Given the description of an element on the screen output the (x, y) to click on. 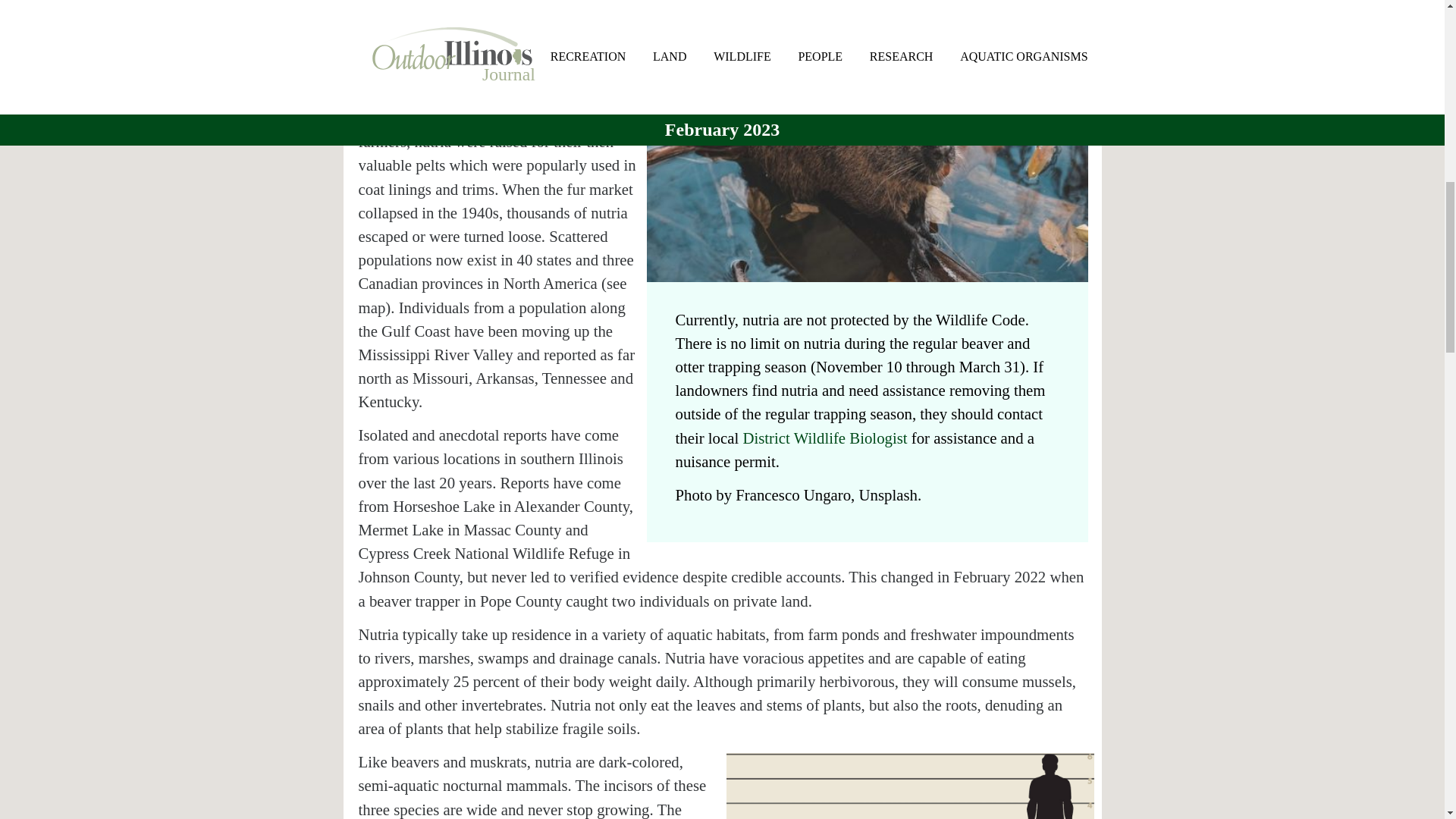
District Wildlife Biologist (824, 437)
